Given the description of an element on the screen output the (x, y) to click on. 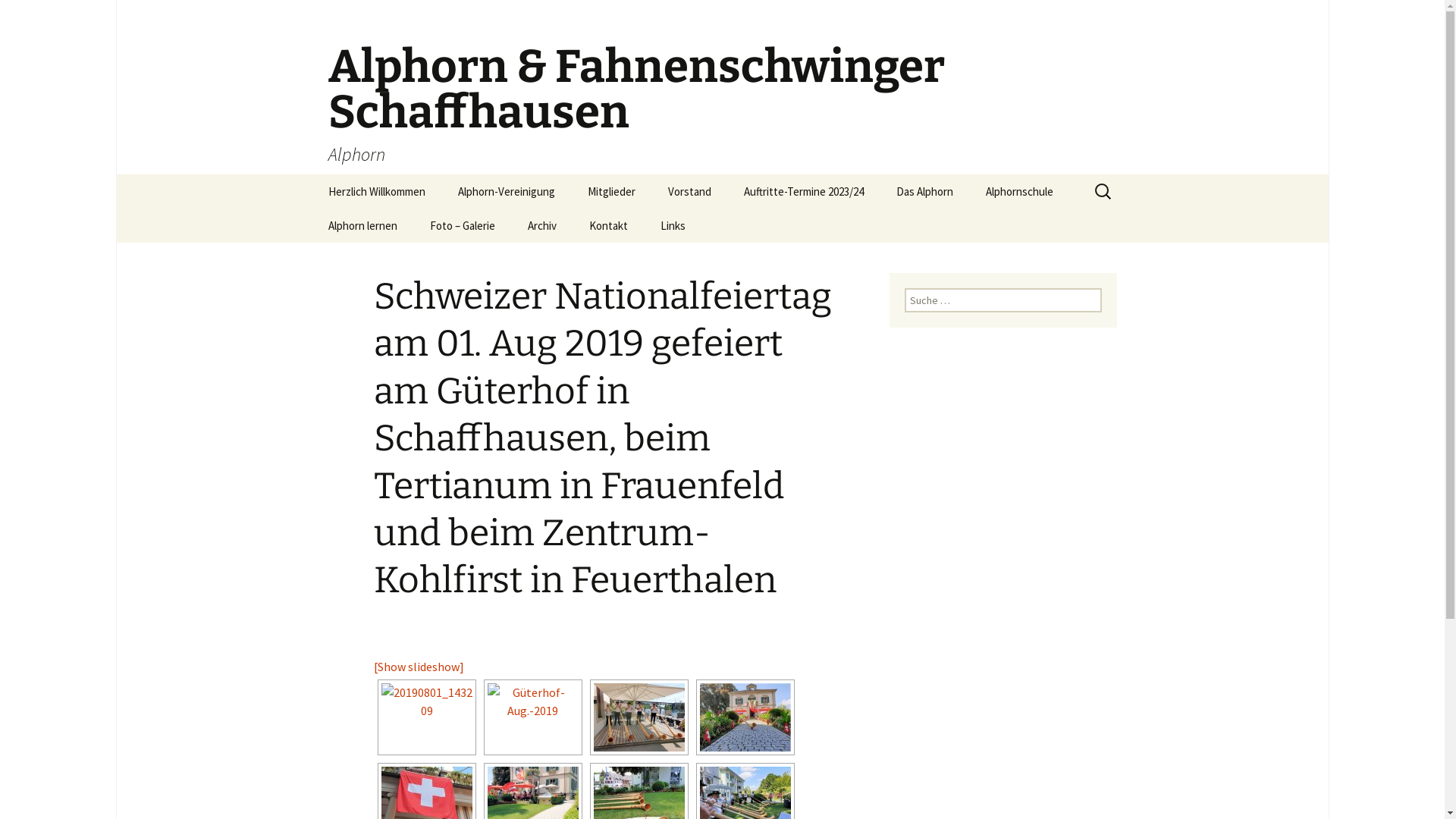
Archiv Element type: text (541, 225)
Zum Inhalt springen Element type: text (312, 173)
Das Alphorn Element type: text (924, 191)
20190801_143209 Element type: hover (425, 717)
Alphorn & Fahnenschwinger Schaffhausen
Alphorn Element type: text (721, 87)
20190801_115316 Element type: hover (638, 717)
Alphornschule Element type: text (1019, 191)
Vorstand Element type: text (688, 191)
Suche Element type: text (32, 15)
Mitglieder Element type: text (610, 191)
20190801_142752 Element type: hover (744, 717)
Alphorn lernen Element type: text (361, 225)
Auftritte-Termine 2023/24 Element type: text (803, 191)
[Show slideshow] Element type: text (418, 666)
Links Element type: text (671, 225)
Alphorn-Vereinigung Element type: text (506, 191)
Kontakt Element type: text (607, 225)
Herzlich Willkommen Element type: text (375, 191)
Suche Element type: text (18, 16)
